Given the description of an element on the screen output the (x, y) to click on. 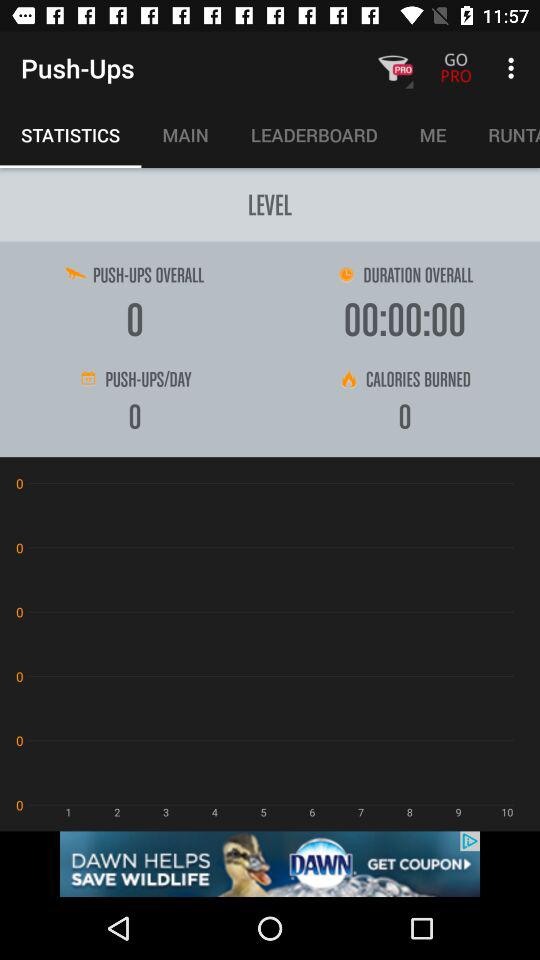
click on the button between main and me (314, 134)
click on main on the right side of statistics (185, 134)
click on pro button which is beside go pro at top of the page (392, 68)
click on me (433, 134)
